Given the description of an element on the screen output the (x, y) to click on. 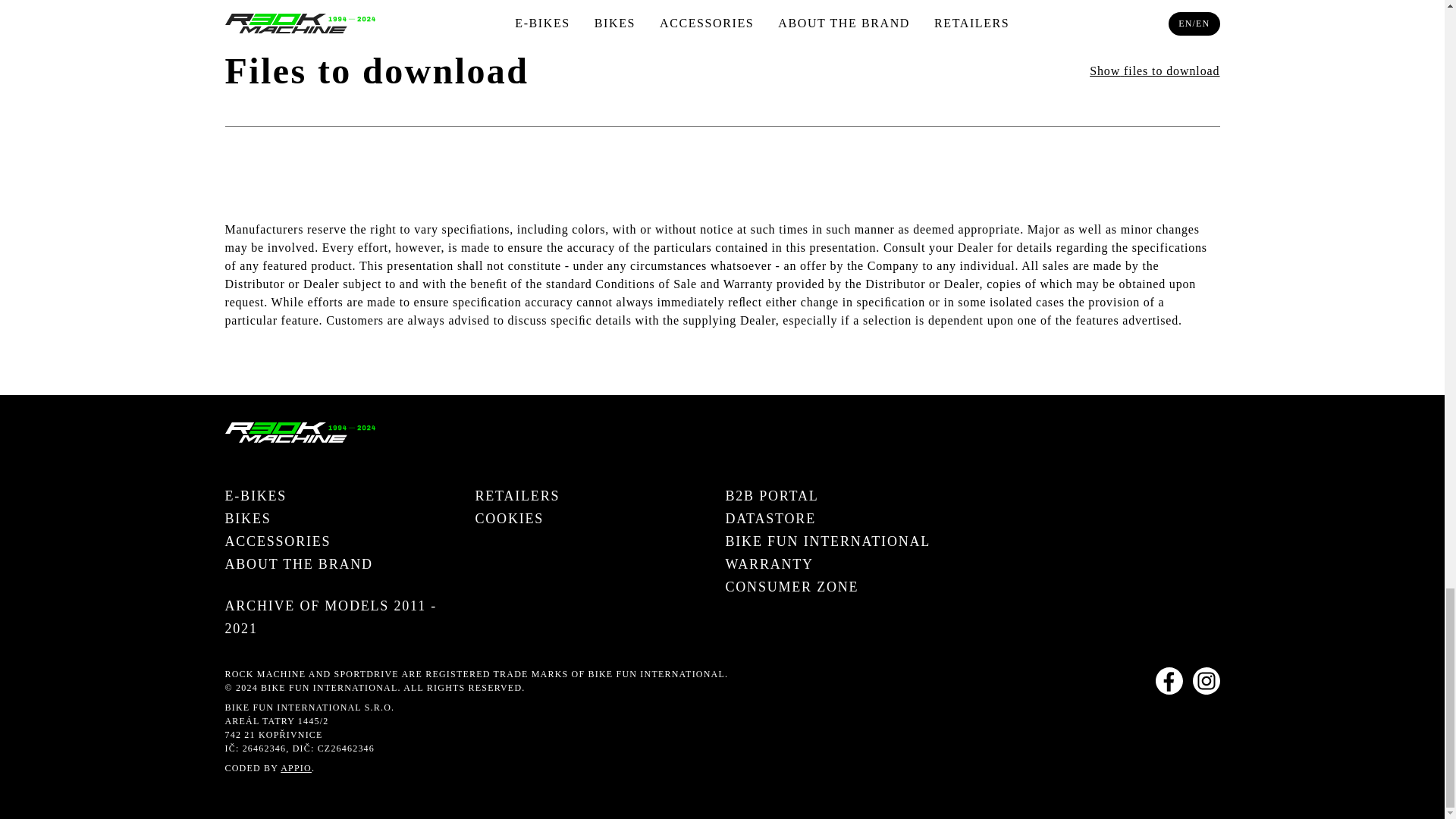
COOKIES (508, 517)
ABOUT THE BRAND (298, 563)
WARRANTY (768, 563)
BIKES (247, 517)
ACCESSORIES (277, 540)
CONSUMER ZONE (792, 586)
BIKE FUN INTERNATIONAL (827, 540)
E-BIKES (255, 495)
ARCHIVE OF MODELS 2011 - 2021 (346, 616)
DATASTORE (770, 517)
